Given the description of an element on the screen output the (x, y) to click on. 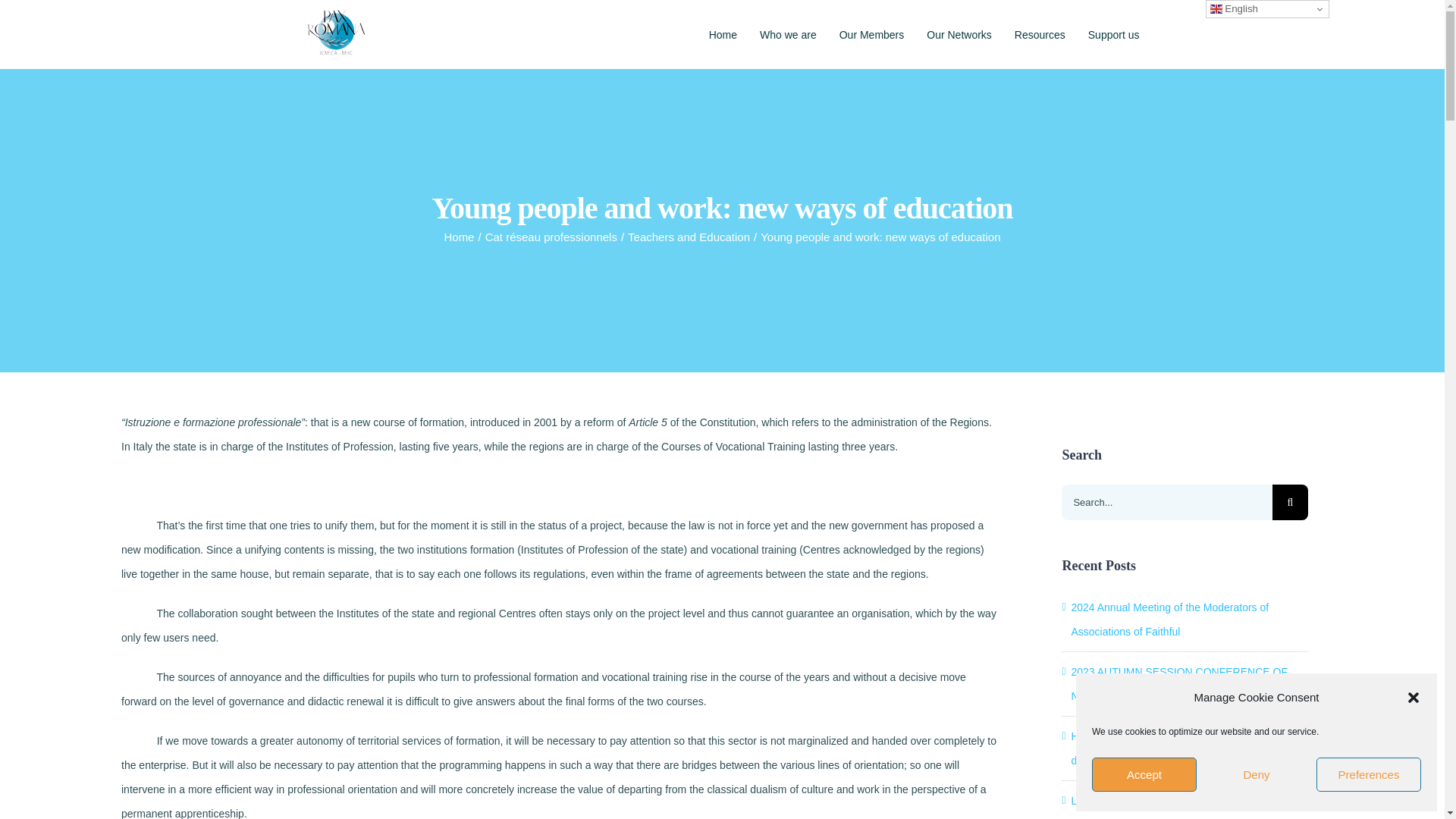
Preferences (1368, 774)
Our Networks (958, 34)
Deny (1256, 774)
Accept (1144, 774)
Our Members (872, 34)
